Given the description of an element on the screen output the (x, y) to click on. 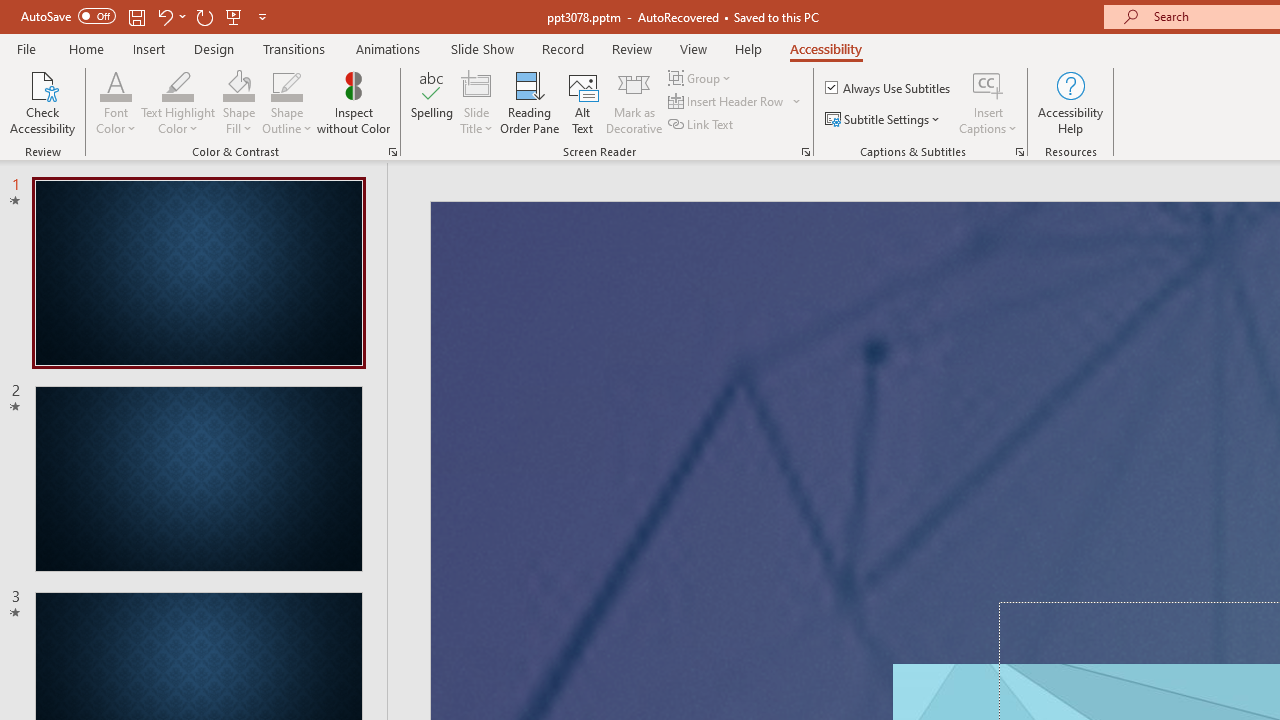
Spelling... (432, 102)
Mark as Decorative (634, 102)
Color & Contrast (392, 151)
Check Accessibility (42, 102)
Group (701, 78)
Shape Outline (286, 102)
